Given the description of an element on the screen output the (x, y) to click on. 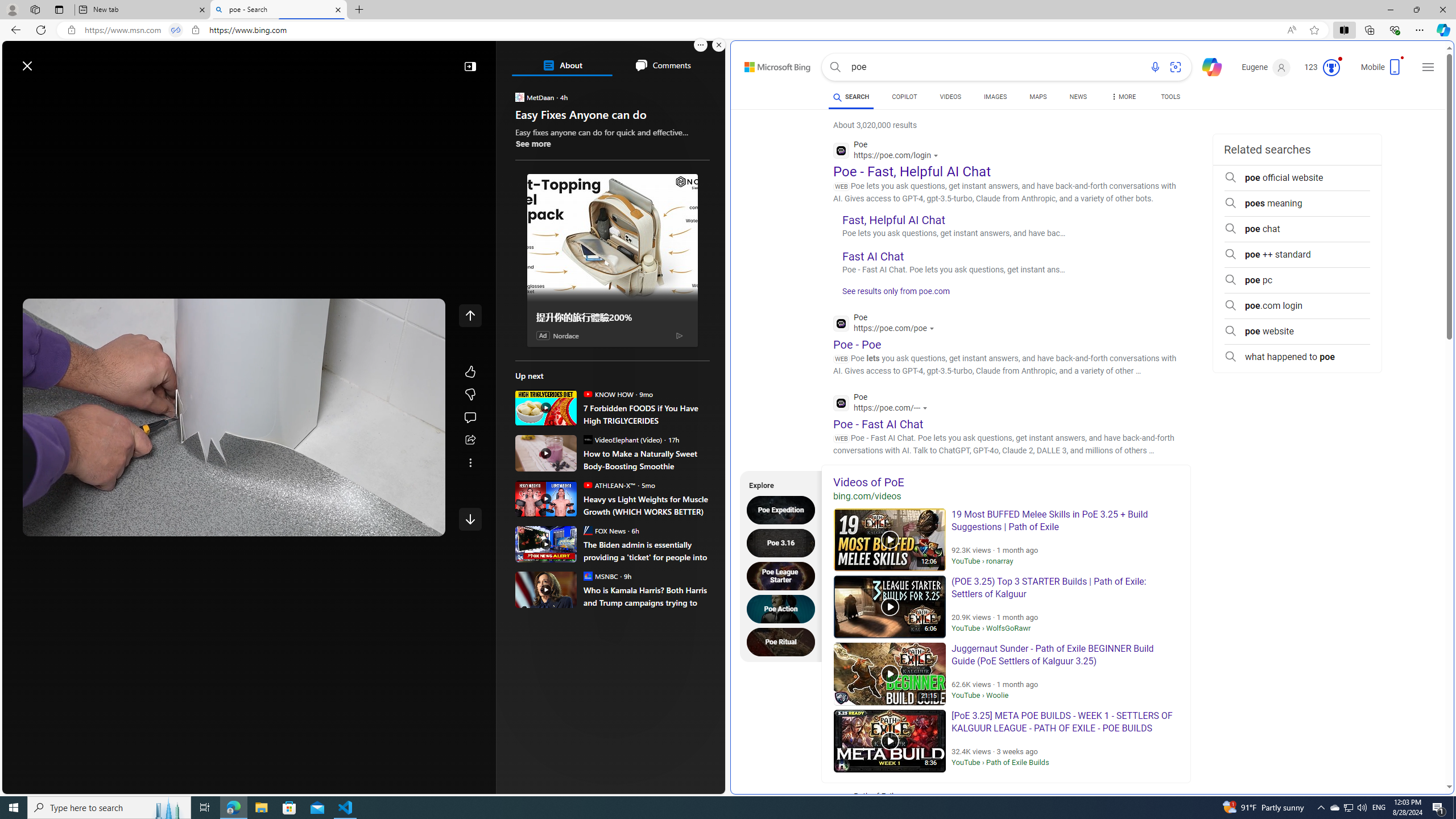
Like (469, 371)
